Given the description of an element on the screen output the (x, y) to click on. 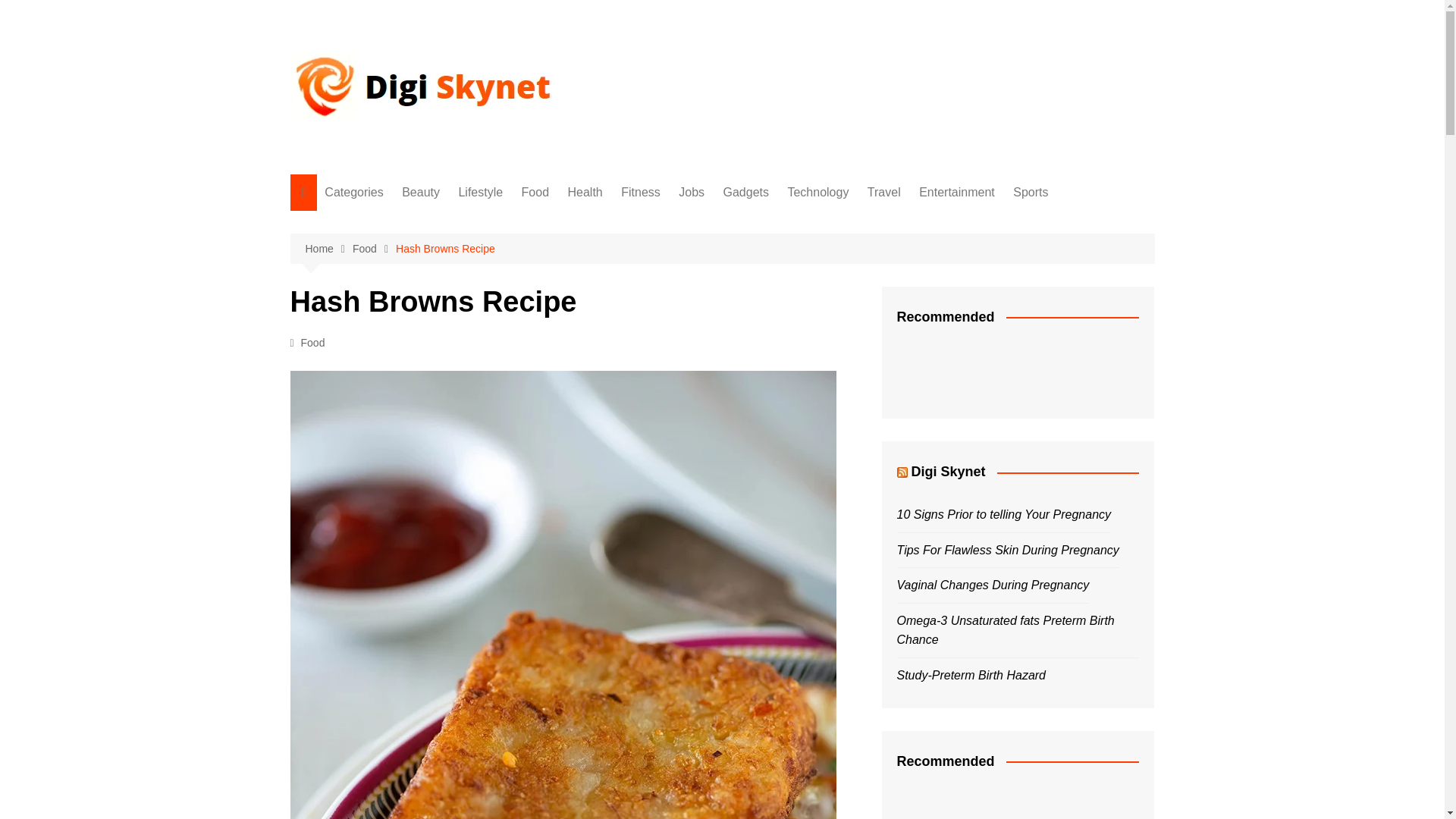
Fitness (640, 192)
Technology (400, 423)
Beauty (400, 222)
Make Money Online (400, 548)
Travel (400, 448)
Food (534, 192)
Sports (400, 498)
Hash Browns Recipe (445, 248)
Pets (400, 523)
Food (400, 273)
